Given the description of an element on the screen output the (x, y) to click on. 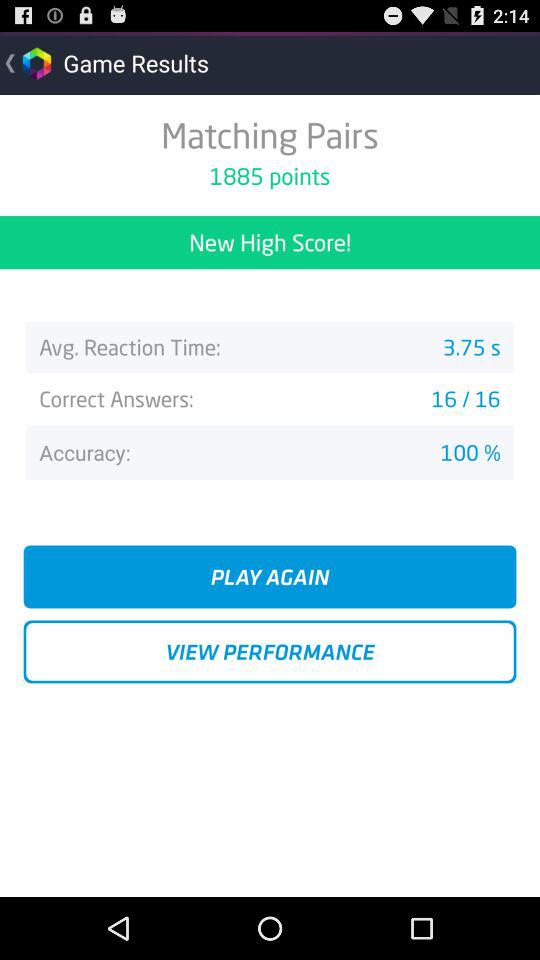
jump to the view performance item (269, 651)
